Given the description of an element on the screen output the (x, y) to click on. 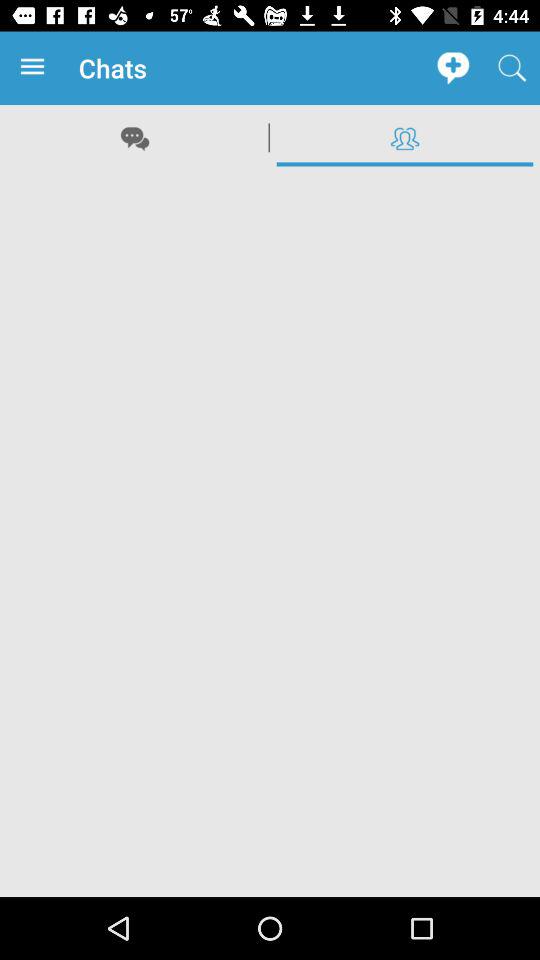
press icon at the center (270, 533)
